Given the description of an element on the screen output the (x, y) to click on. 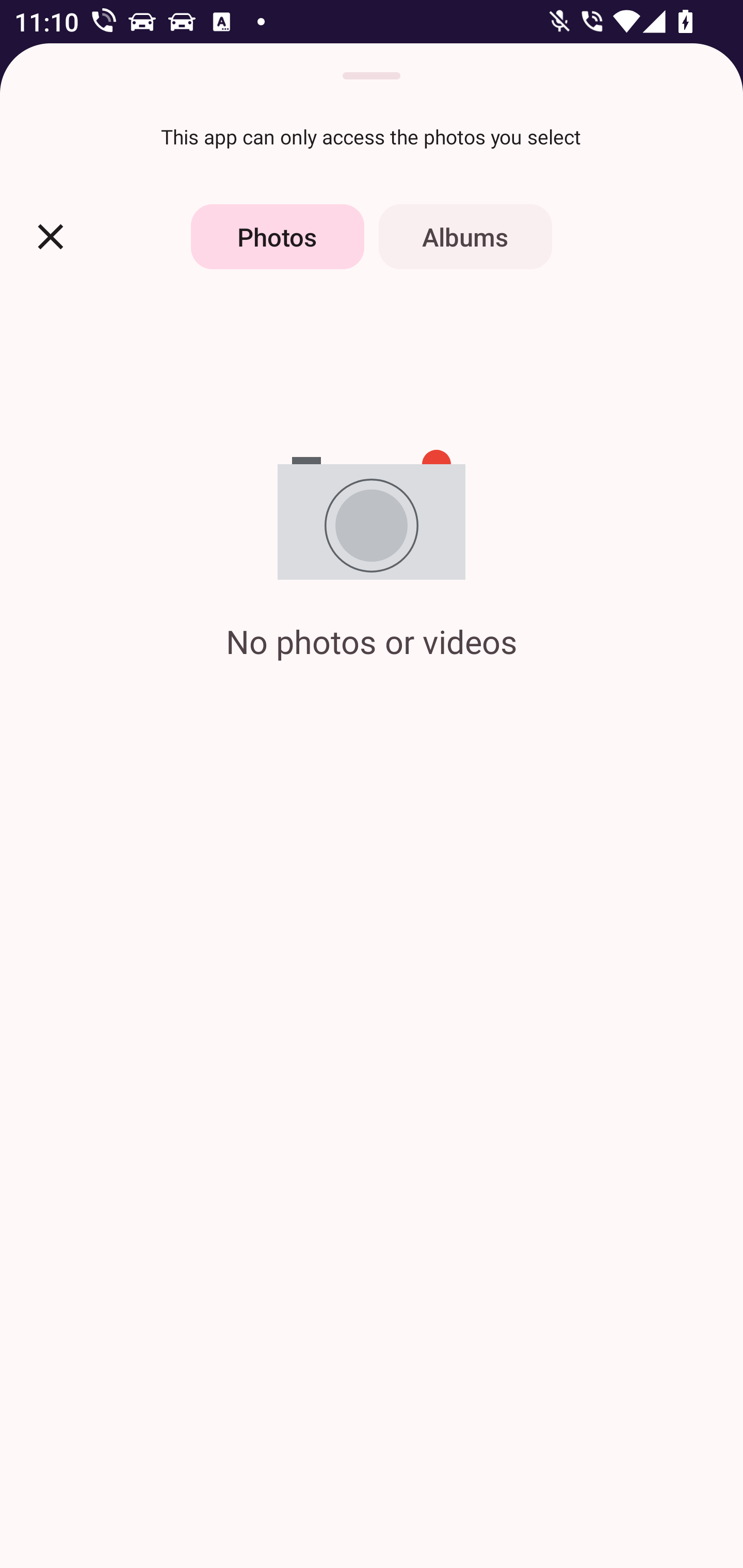
Cancel (50, 236)
Albums (465, 236)
